Given the description of an element on the screen output the (x, y) to click on. 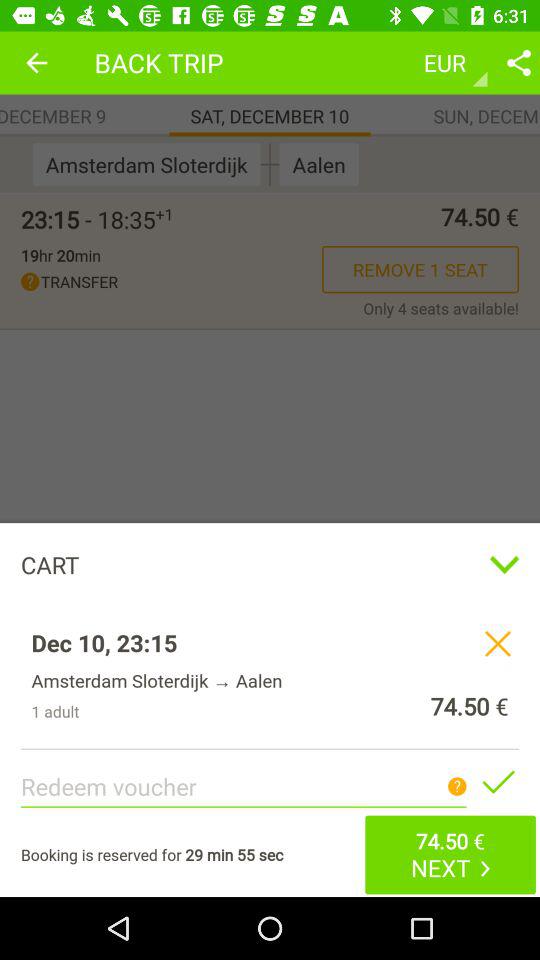
select icon below the sat, december 10 app (269, 164)
